Given the description of an element on the screen output the (x, y) to click on. 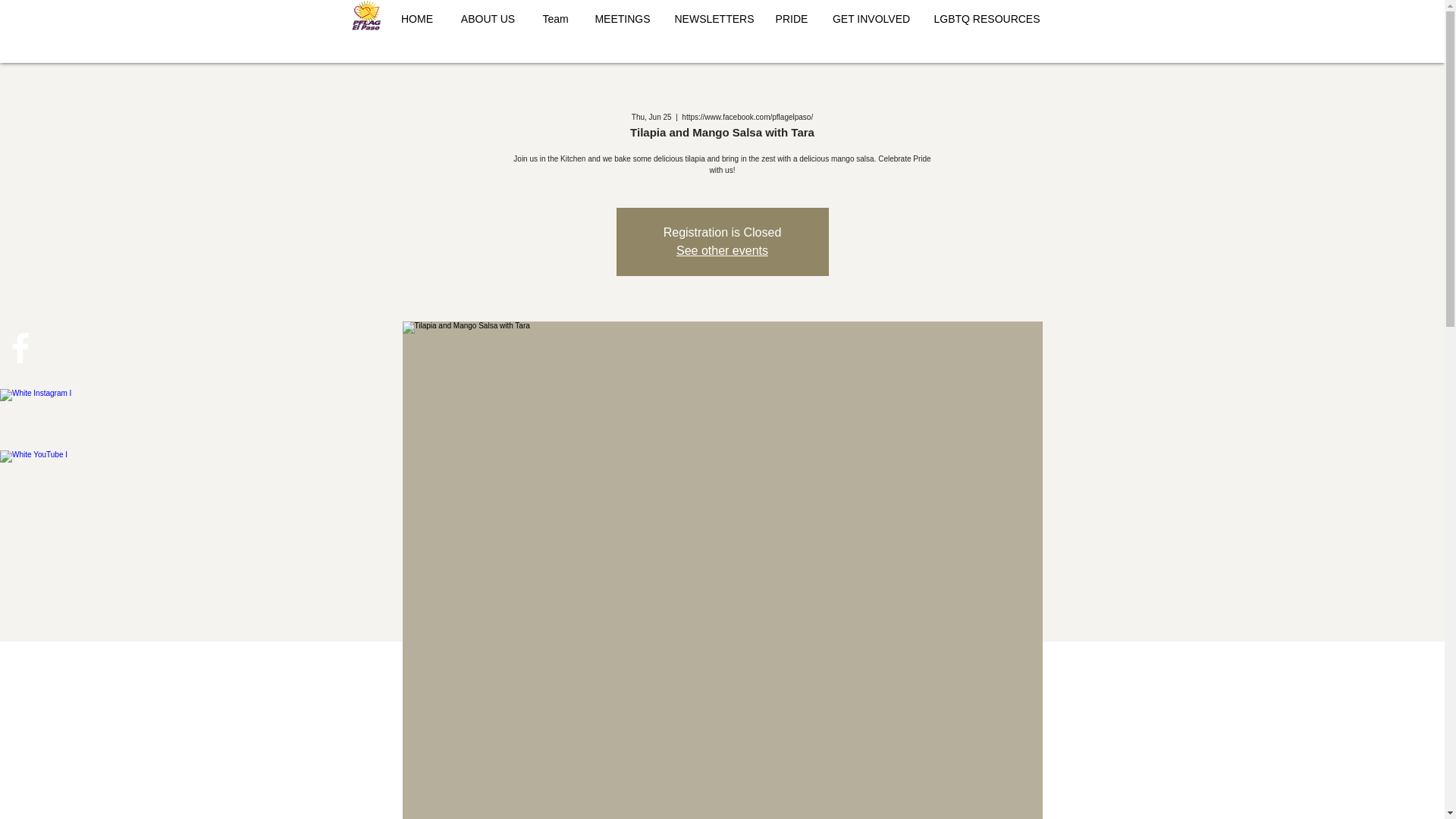
NEWSLETTERS (712, 18)
HOME (416, 18)
GET INVOLVED (872, 18)
ABOUT US (487, 18)
LGBTQ RESOURCES (985, 18)
Team (555, 18)
MEETINGS (622, 18)
See other events (722, 250)
PRIDE (790, 18)
